Given the description of an element on the screen output the (x, y) to click on. 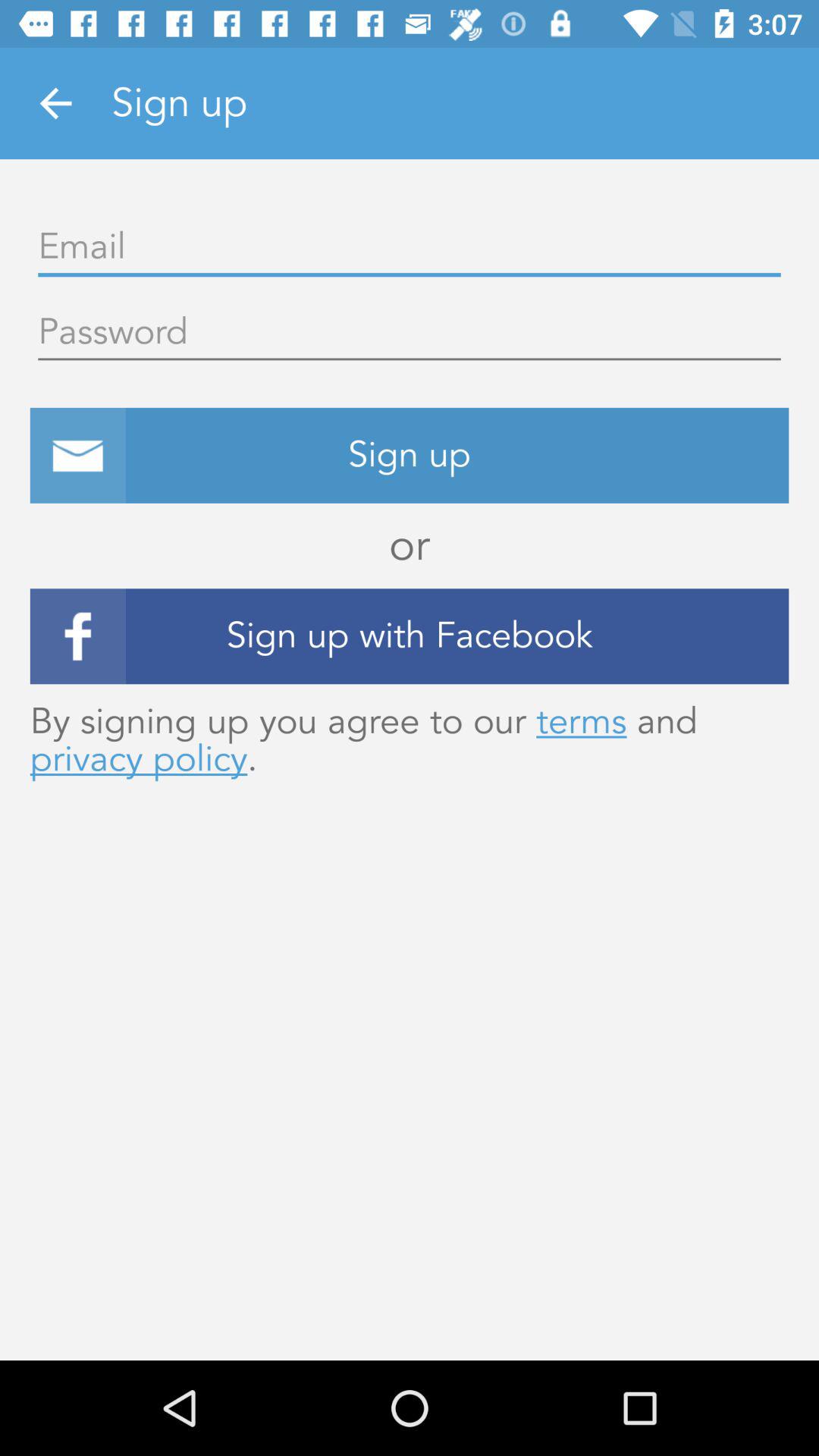
turn off item below the sign up with (409, 740)
